Given the description of an element on the screen output the (x, y) to click on. 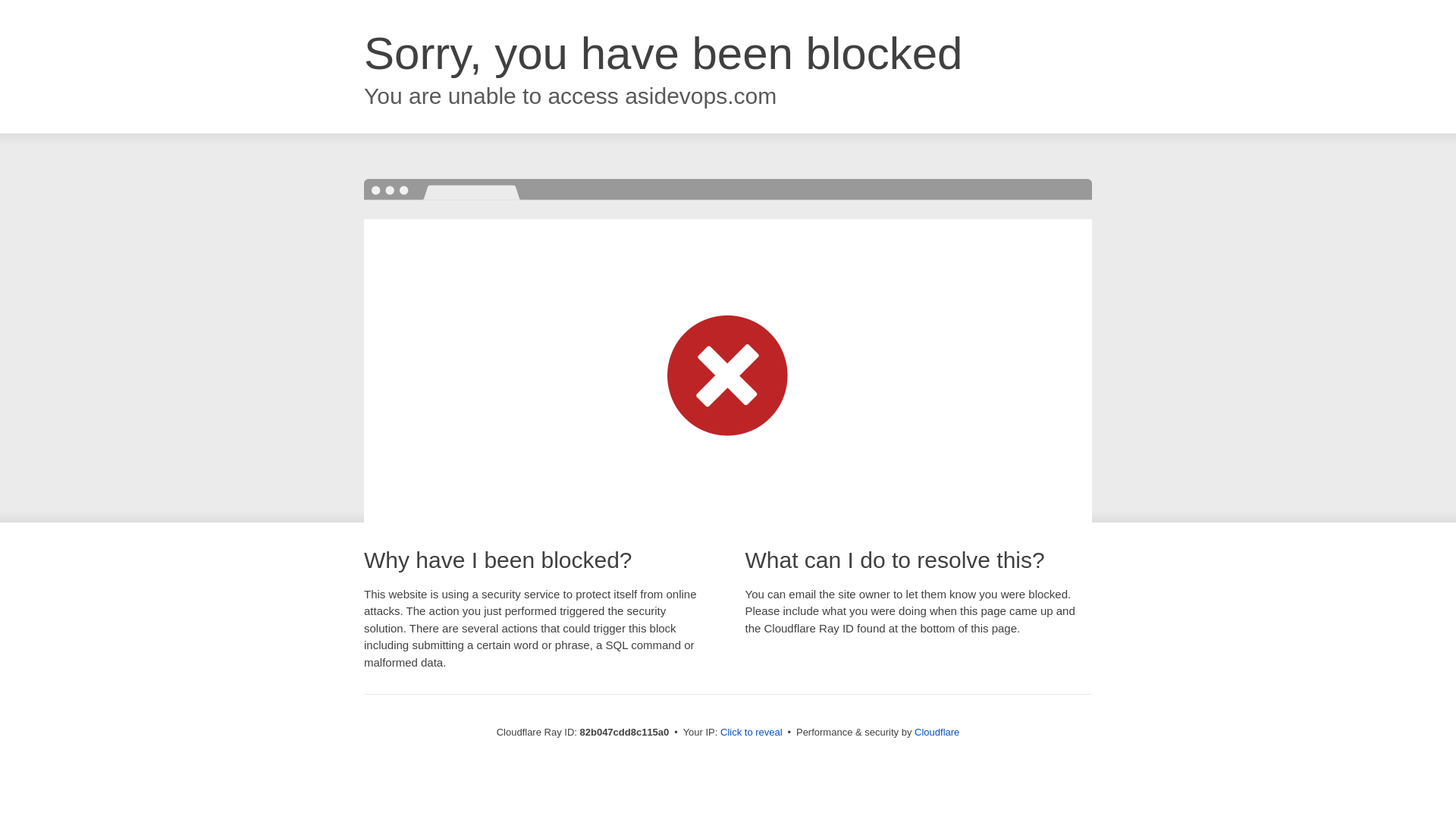
Click to reveal Element type: text (751, 732)
Cloudflare Element type: text (936, 731)
